Given the description of an element on the screen output the (x, y) to click on. 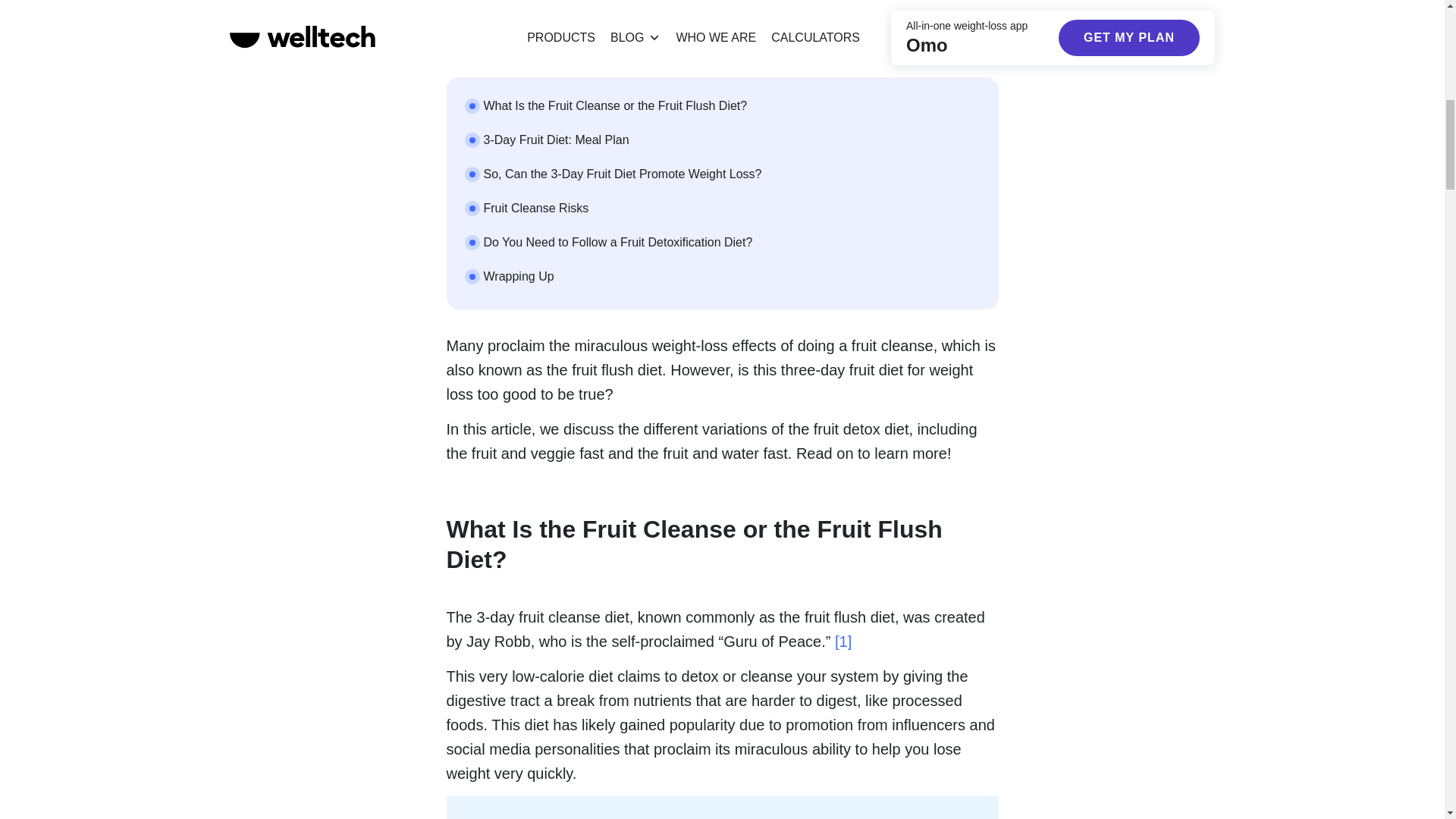
So, Can the 3-Day Fruit Diet Promote Weight Loss? (622, 173)
What Is the Fruit Cleanse or the Fruit Flush Diet? (615, 105)
Do You Need to Follow a Fruit Detoxification Diet? (617, 241)
Wrapping Up (518, 276)
3-Day Fruit Diet: Meal Plan (555, 139)
Fruit Cleanse Risks (536, 207)
